Given the description of an element on the screen output the (x, y) to click on. 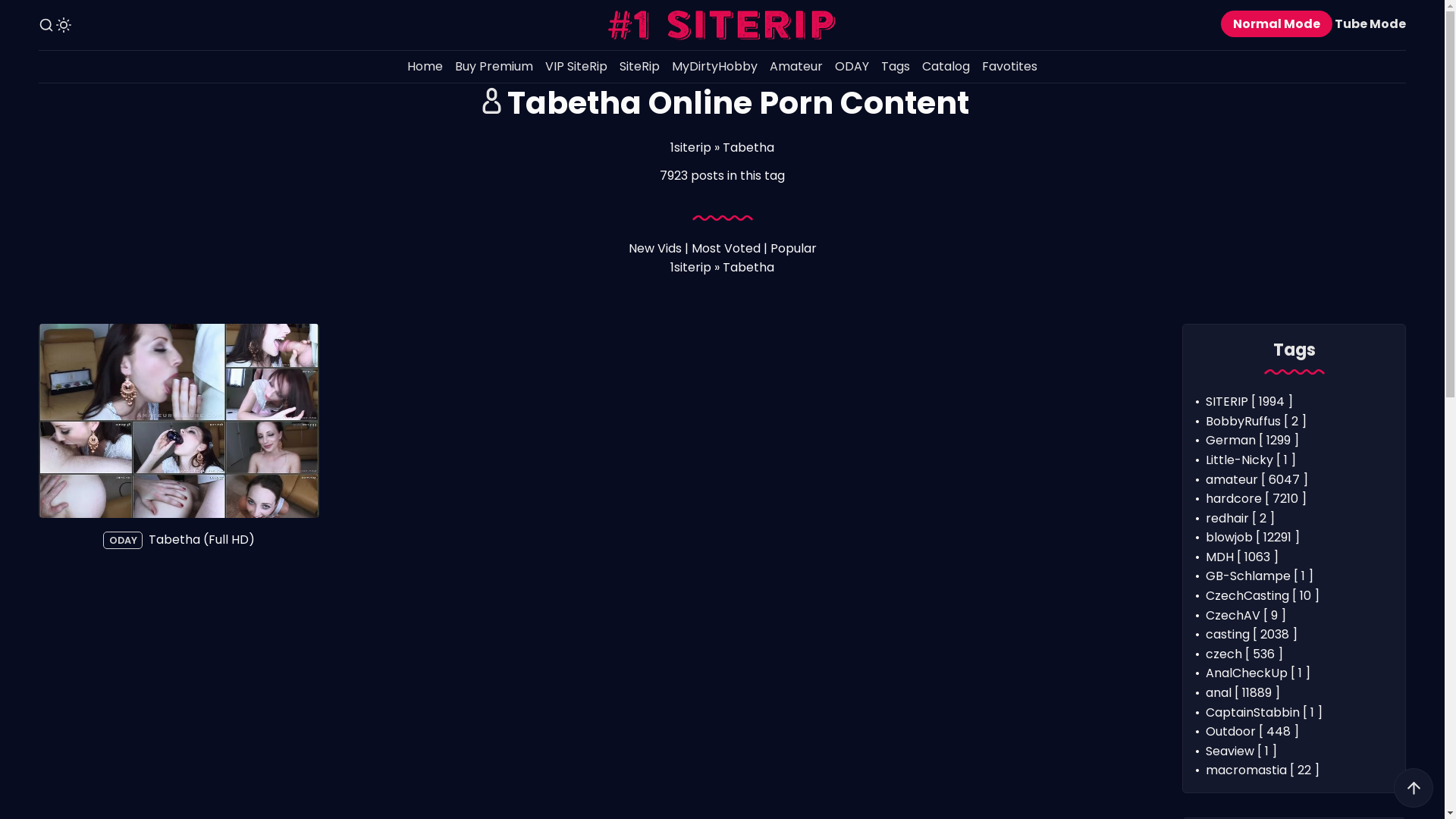
1siterip Element type: text (690, 147)
Tabetha (Full HD) Element type: hover (179, 420)
Light Theme Element type: hover (63, 24)
SiteRip Element type: text (639, 66)
Most Voted Element type: text (725, 248)
Tags Element type: text (895, 66)
Tube Mode Element type: text (1369, 23)
Normal Mode Element type: text (1276, 23)
Home Element type: text (424, 66)
Tabetha (Full HD) Element type: text (201, 539)
Catalog Element type: text (945, 66)
ODAY Element type: text (851, 66)
VIP SiteRip Element type: text (576, 66)
Amateur Element type: text (795, 66)
Popular Element type: text (793, 248)
New Vids Element type: text (653, 248)
MyDirtyHobby Element type: text (714, 66)
Favotites Element type: text (1009, 66)
ODAY Element type: text (122, 540)
1siterip Element type: text (690, 267)
Search Element type: hover (45, 24)
Buy Premium Element type: text (493, 66)
